Given the description of an element on the screen output the (x, y) to click on. 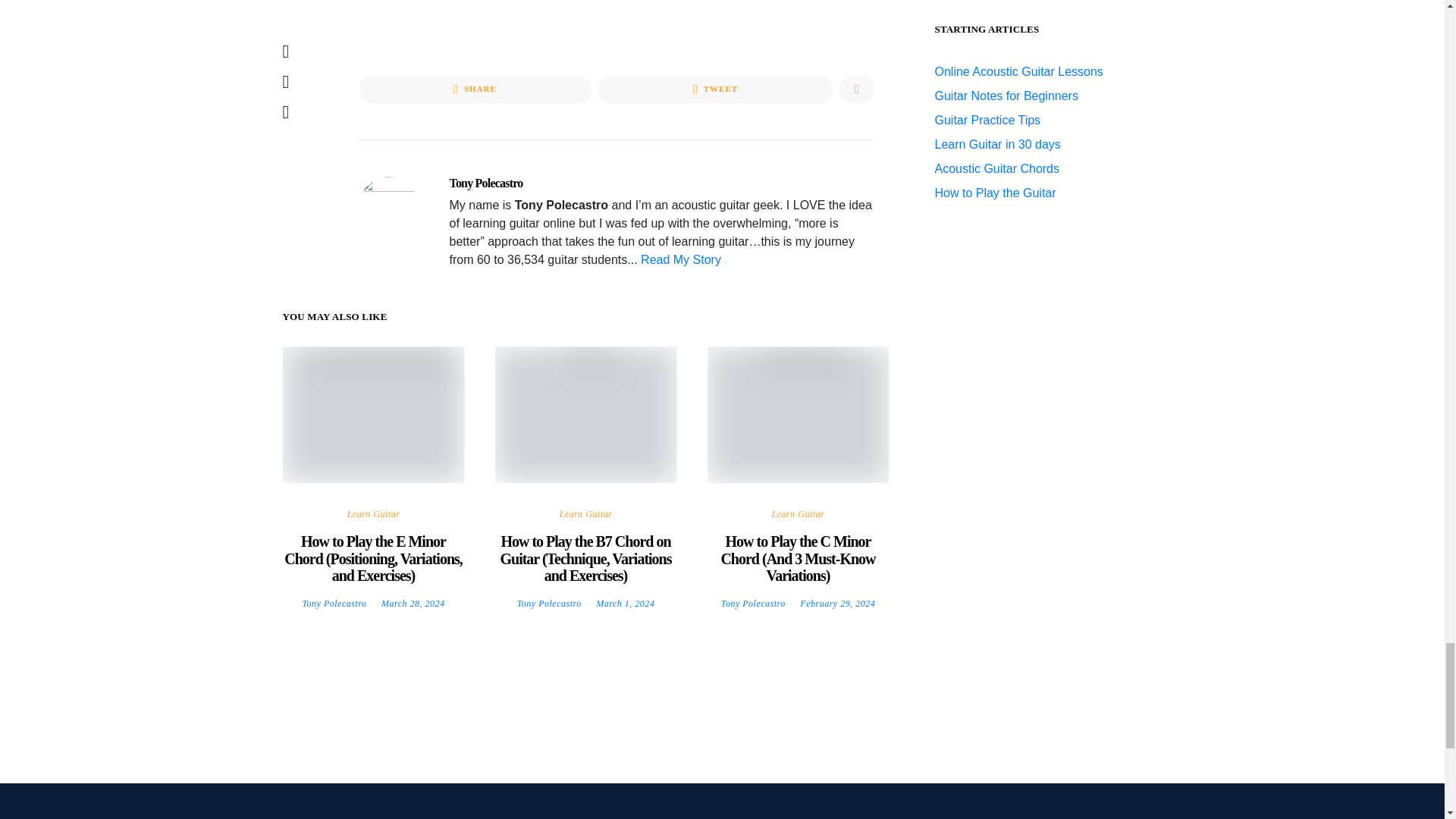
View all posts by Tony Polecastro (753, 603)
View all posts by Tony Polecastro (548, 603)
View all posts by Tony Polecastro (333, 603)
